Given the description of an element on the screen output the (x, y) to click on. 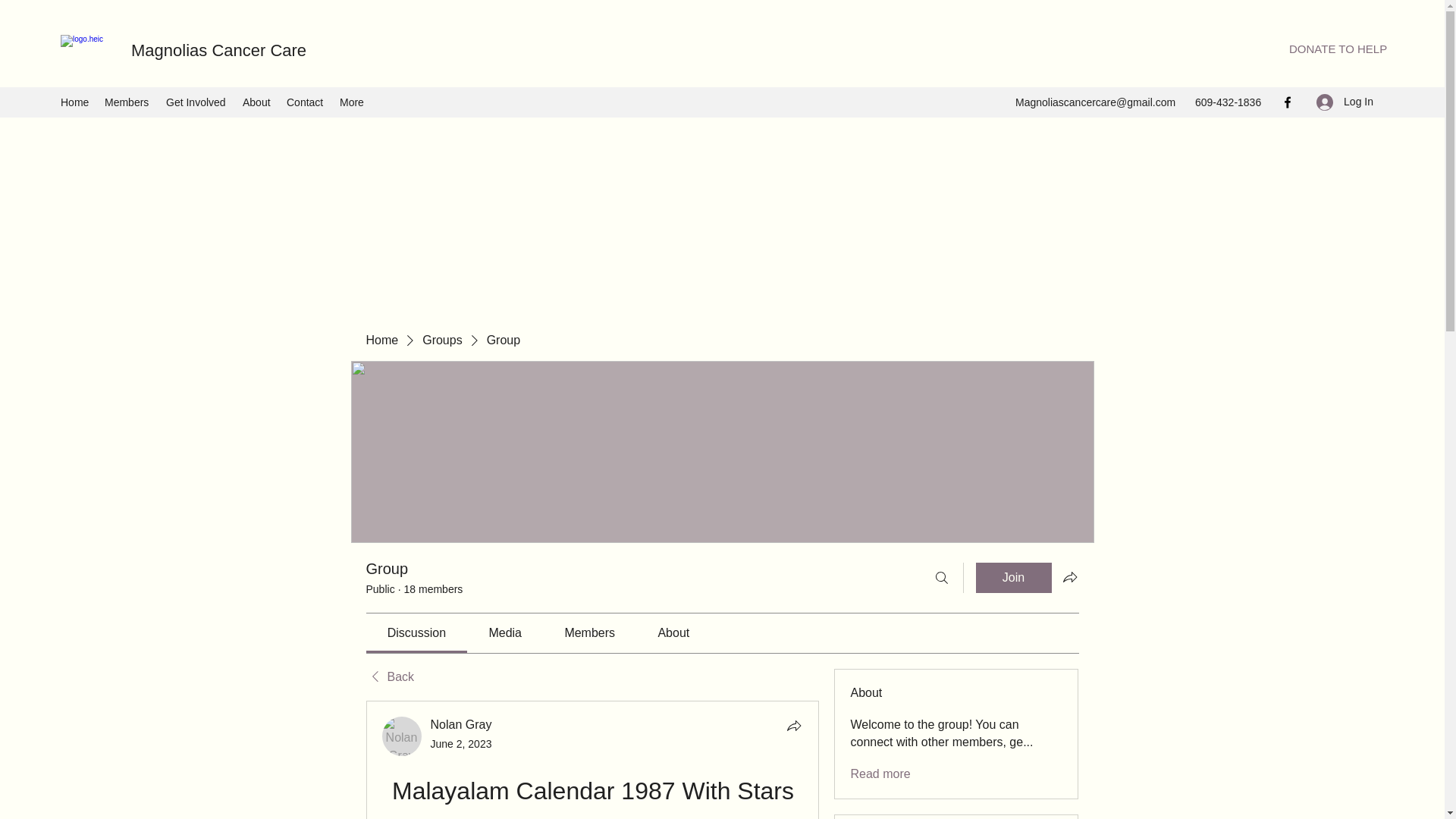
Magnolias Cancer Care   (223, 49)
Read more (880, 773)
Get Involved (196, 101)
Contact (305, 101)
Join (1013, 577)
June 2, 2023 (461, 743)
Members (127, 101)
Back (389, 677)
About (256, 101)
Home (74, 101)
